Given the description of an element on the screen output the (x, y) to click on. 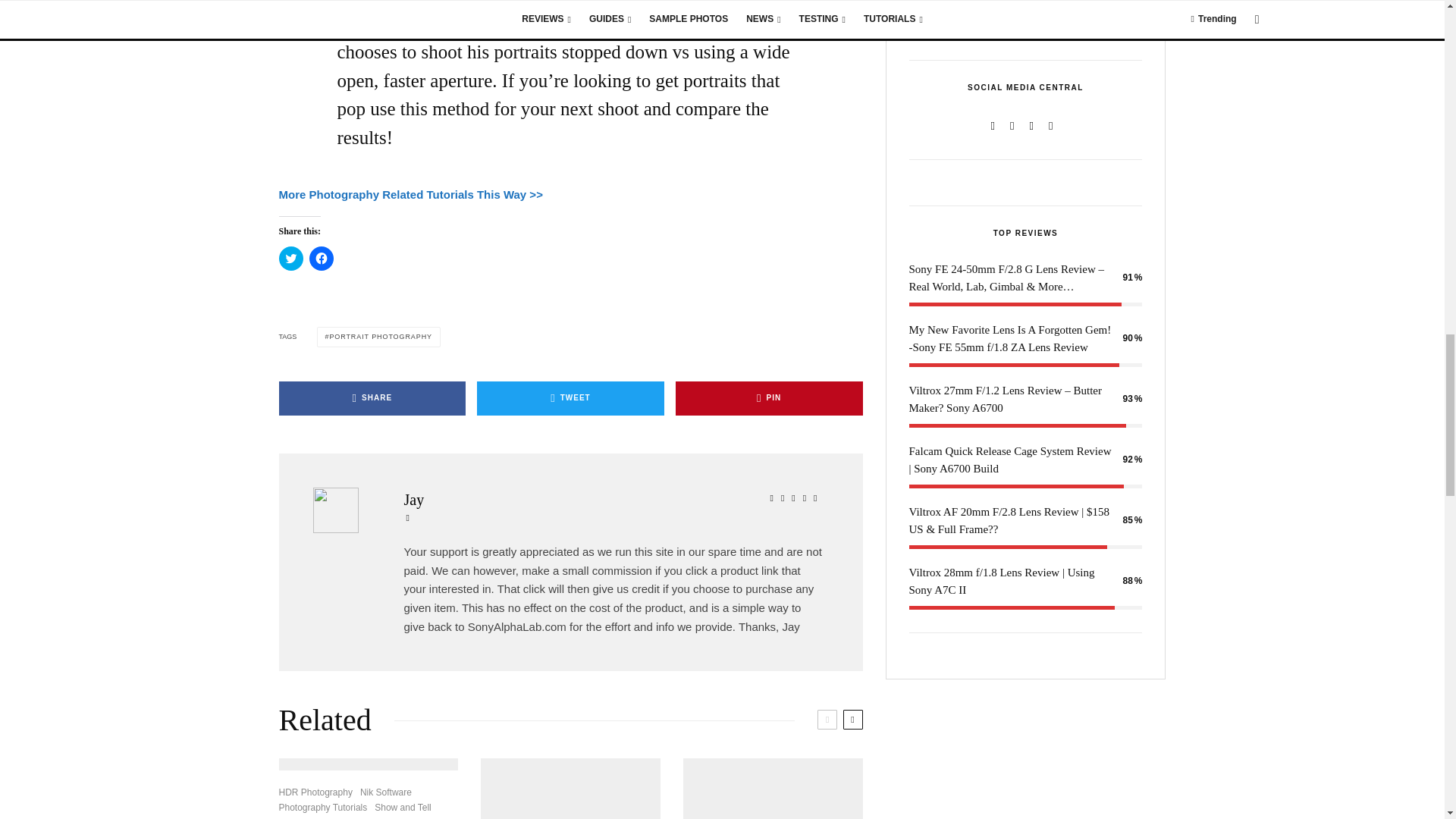
Click to share on Facebook (320, 258)
Click to share on Twitter (290, 258)
